Given the description of an element on the screen output the (x, y) to click on. 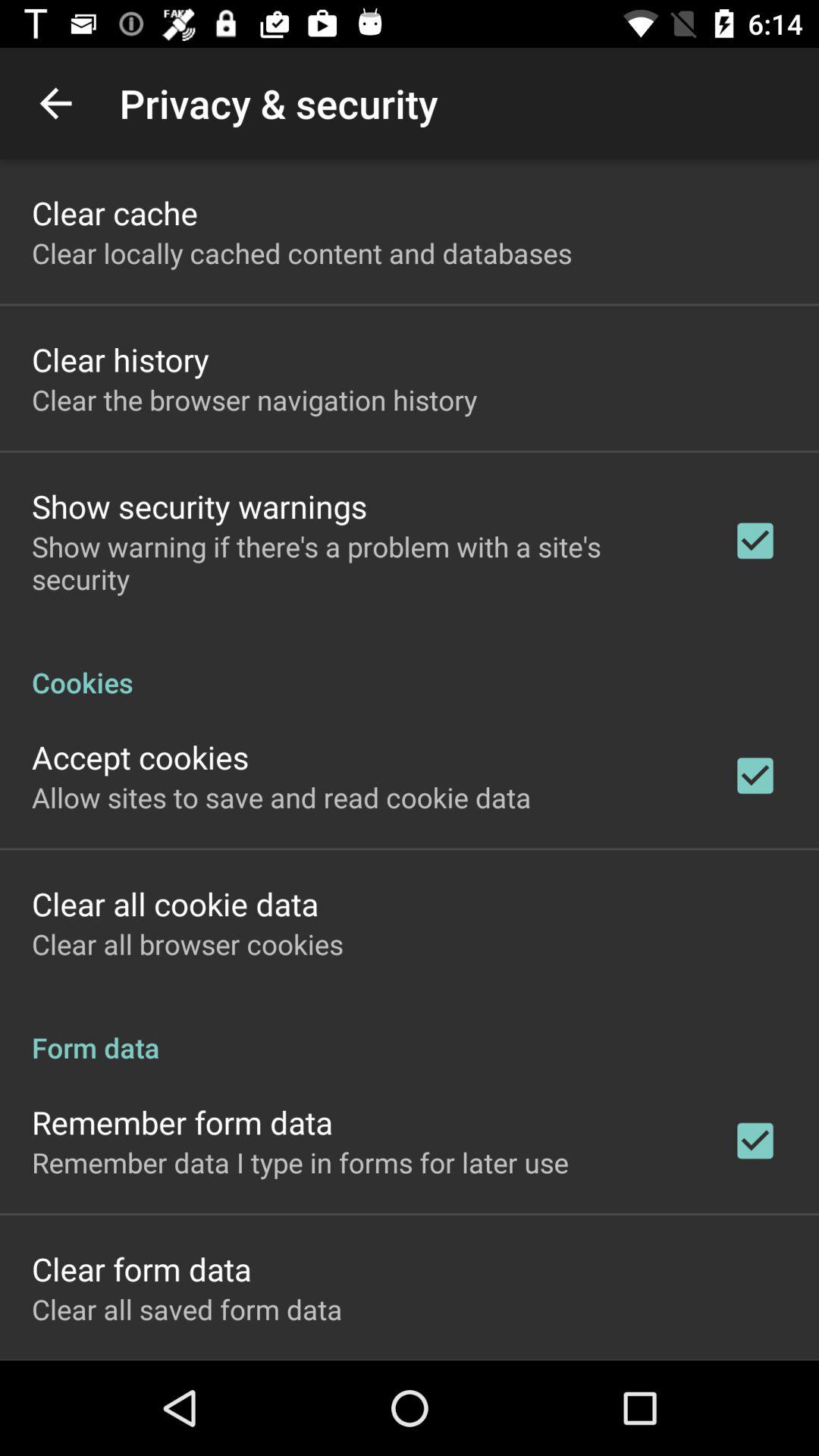
flip until the clear cache item (114, 212)
